Given the description of an element on the screen output the (x, y) to click on. 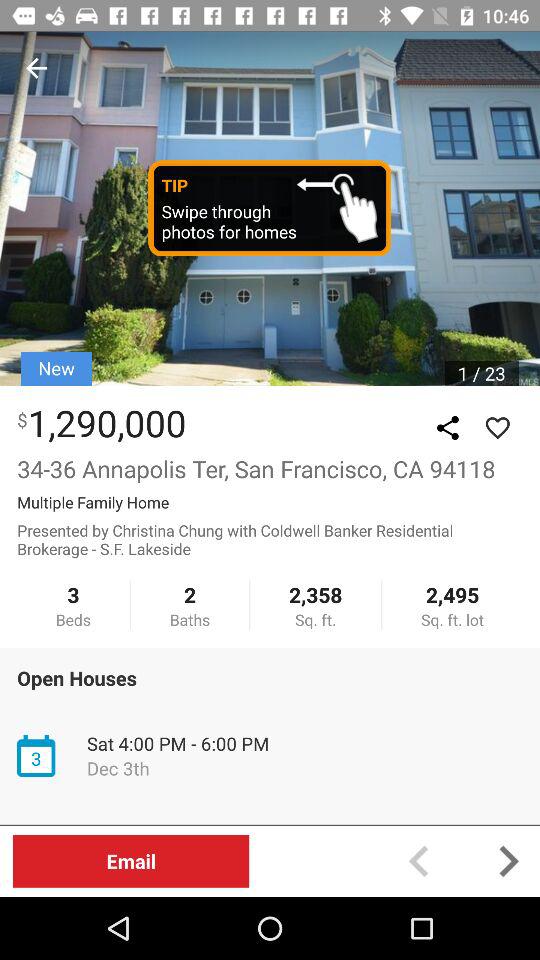
tap on the red colored box that reads email positioned at the bottom left corner (130, 861)
